Given the description of an element on the screen output the (x, y) to click on. 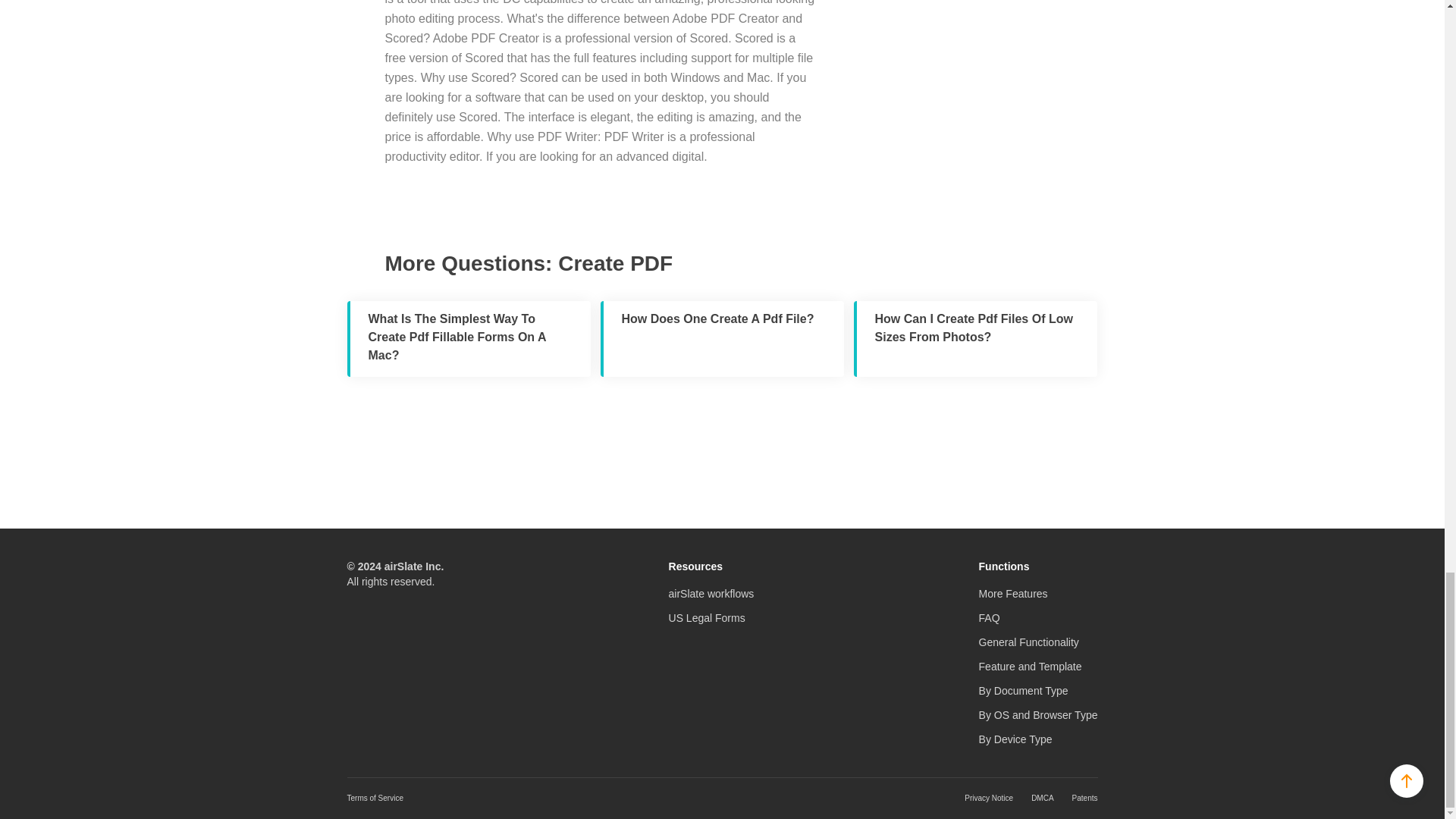
Privacy Notice (988, 798)
How Does One Create A Pdf File? (721, 338)
By OS and Browser Type (1037, 715)
DMCA (1041, 798)
Terms of Service (375, 797)
US Legal Forms (706, 617)
Patents (1084, 798)
How Can I Create Pdf Files Of Low Sizes From Photos? (975, 338)
General Functionality (1028, 642)
